Given the description of an element on the screen output the (x, y) to click on. 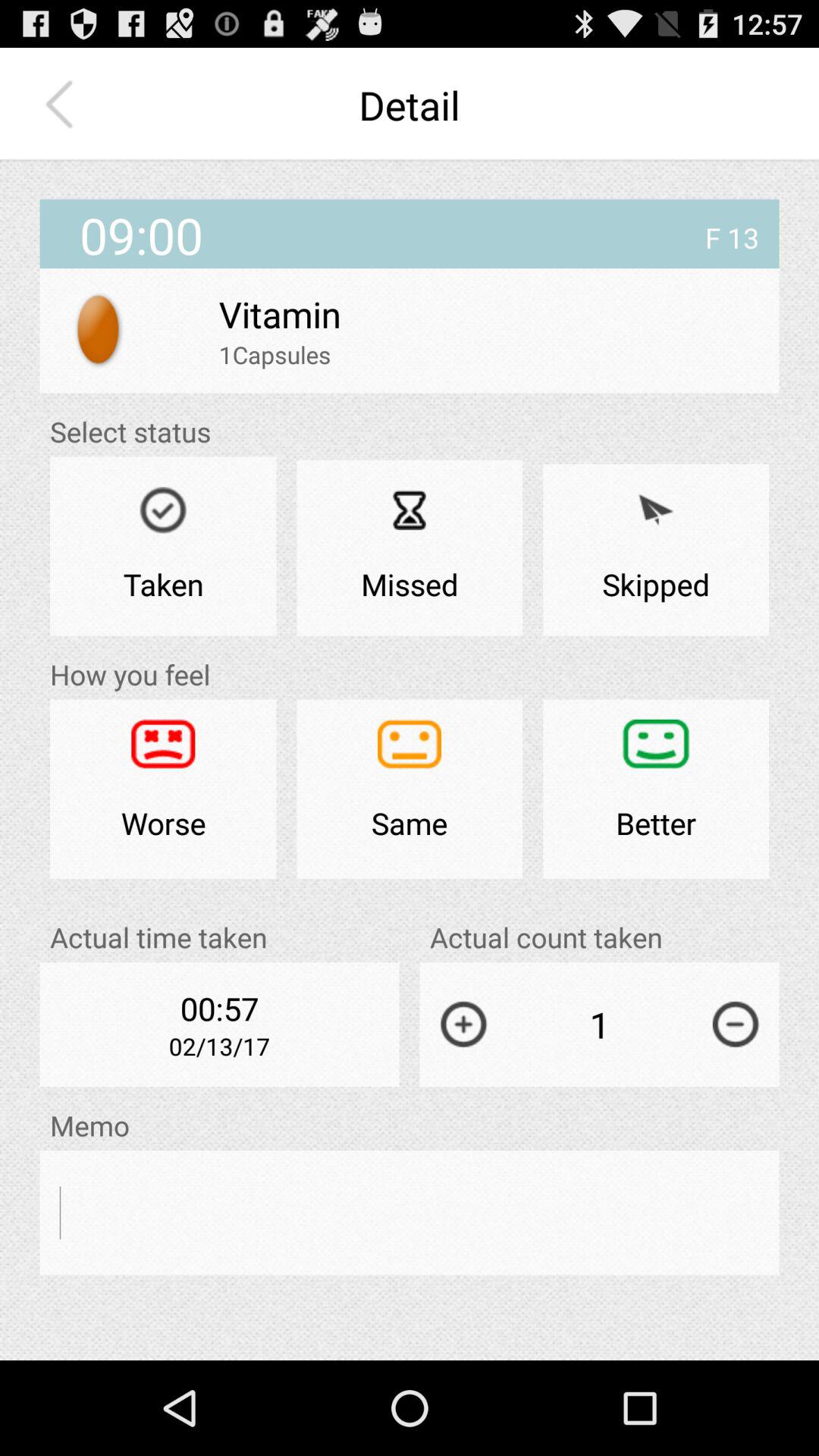
turn off the icon next to the worse icon (409, 788)
